Given the description of an element on the screen output the (x, y) to click on. 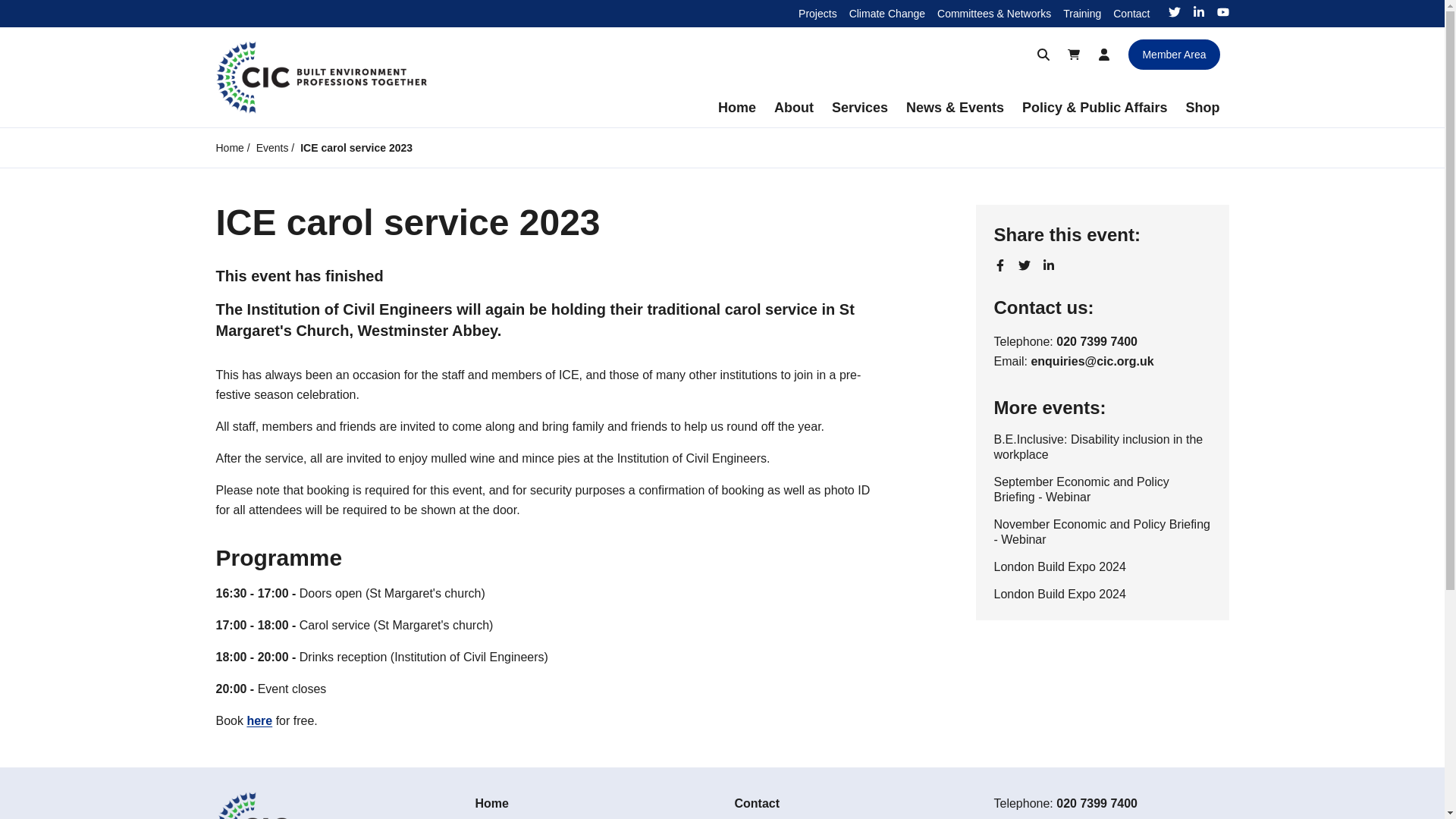
Search (1042, 54)
Share on Facebook (999, 265)
Projects (817, 13)
Contact (1131, 13)
My Account (1103, 54)
Share on Twitter (1023, 265)
Share on LinkedIn (1048, 265)
Training (1081, 13)
Climate Change (886, 13)
About (793, 107)
Services (859, 107)
Cart (1073, 54)
Member Area (1174, 54)
Home (737, 107)
